Given the description of an element on the screen output the (x, y) to click on. 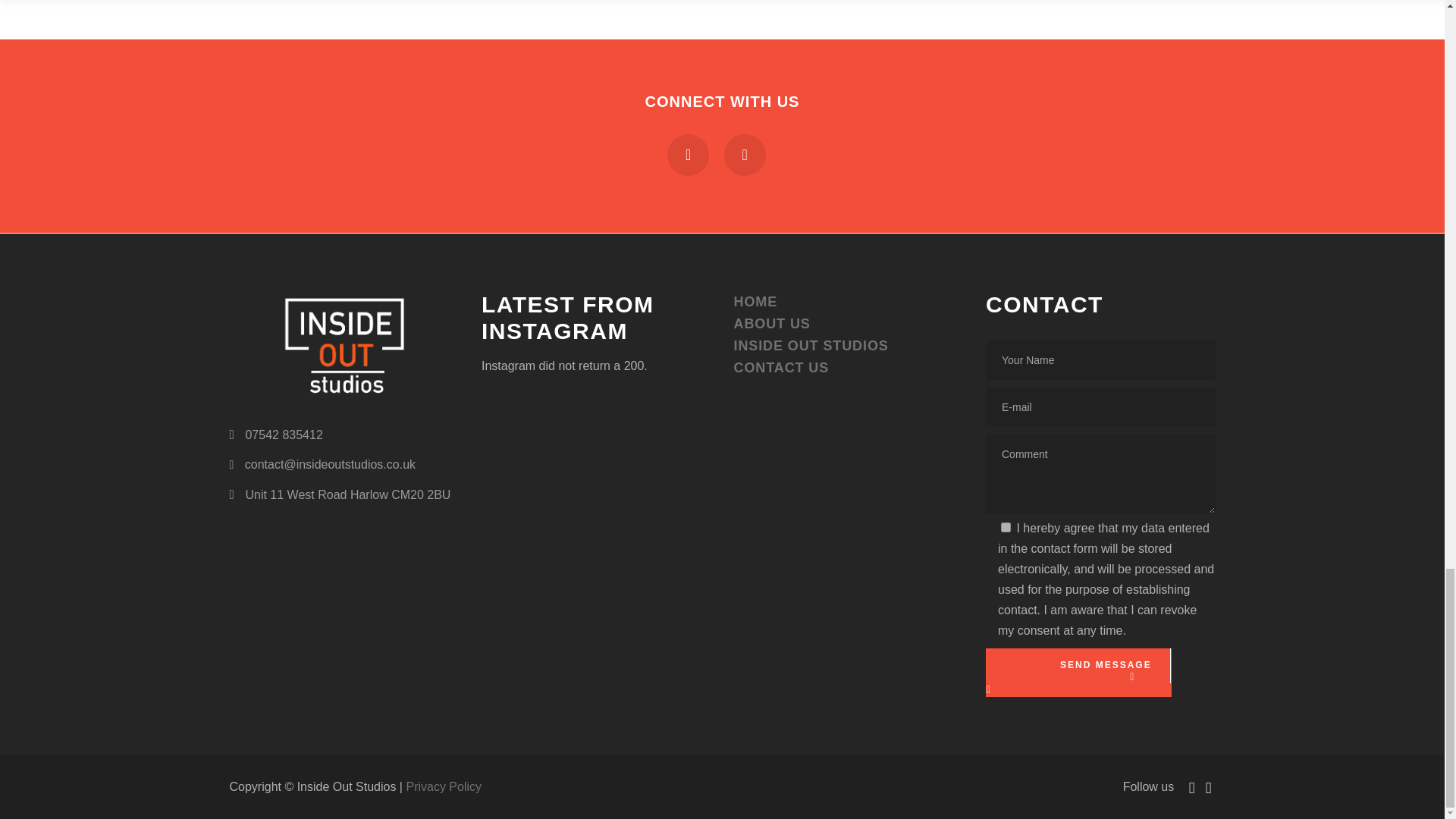
07542 835412 (274, 434)
Unit 11 West Road Harlow CM20 2BU (338, 493)
Send (1078, 676)
INSIDE OUT STUDIOS (810, 345)
HOME (755, 301)
Send (1078, 676)
CONTACT US (781, 367)
Privacy Policy (443, 786)
ABOUT US (771, 323)
